Given the description of an element on the screen output the (x, y) to click on. 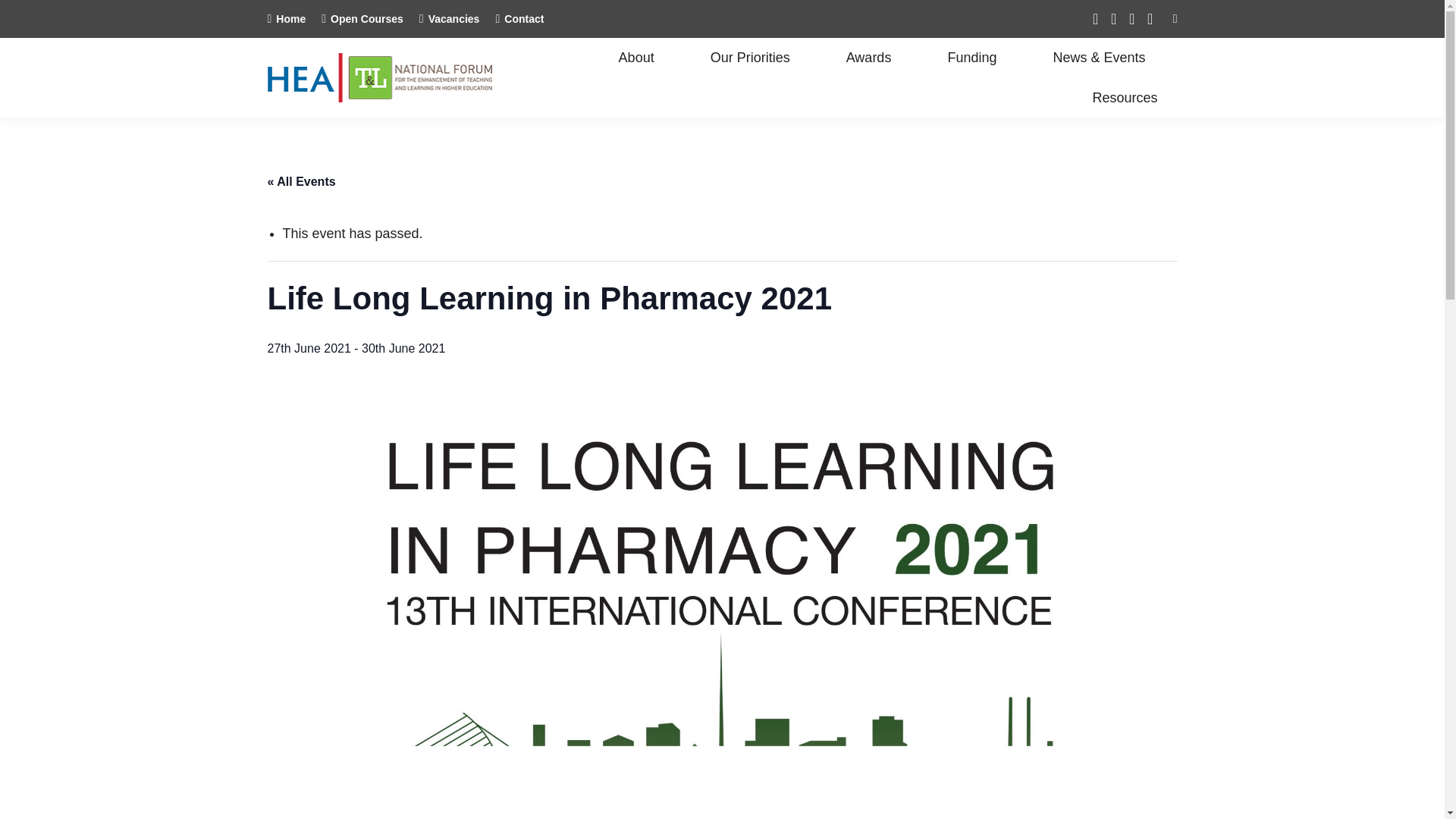
Contact (519, 18)
Linkedin page opens in new window (1113, 17)
Awards (872, 56)
YouTube page opens in new window (1149, 17)
Facebook page opens in new window (1132, 17)
X page opens in new window (1095, 17)
Linkedin page opens in new window (1113, 17)
Vacancies (449, 18)
YouTube page opens in new window (1149, 17)
Open Courses (362, 18)
